Given the description of an element on the screen output the (x, y) to click on. 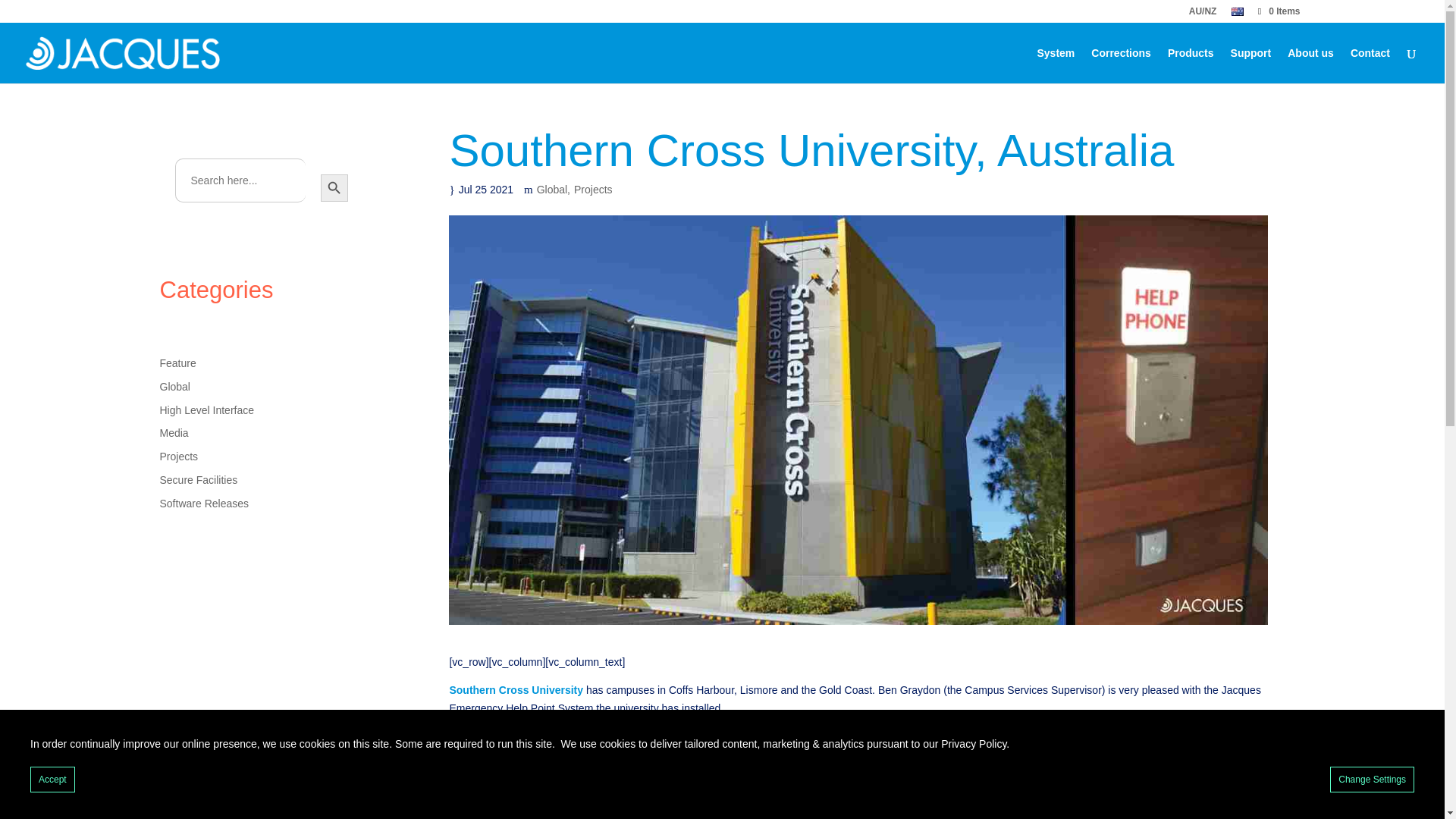
High Level Interface (205, 410)
Support (1250, 65)
Media (172, 432)
Global (555, 189)
Southern Cross University (515, 689)
Projects (178, 456)
About us (1310, 65)
Search Button (333, 187)
Software Releases (203, 503)
Feature (176, 363)
